Given the description of an element on the screen output the (x, y) to click on. 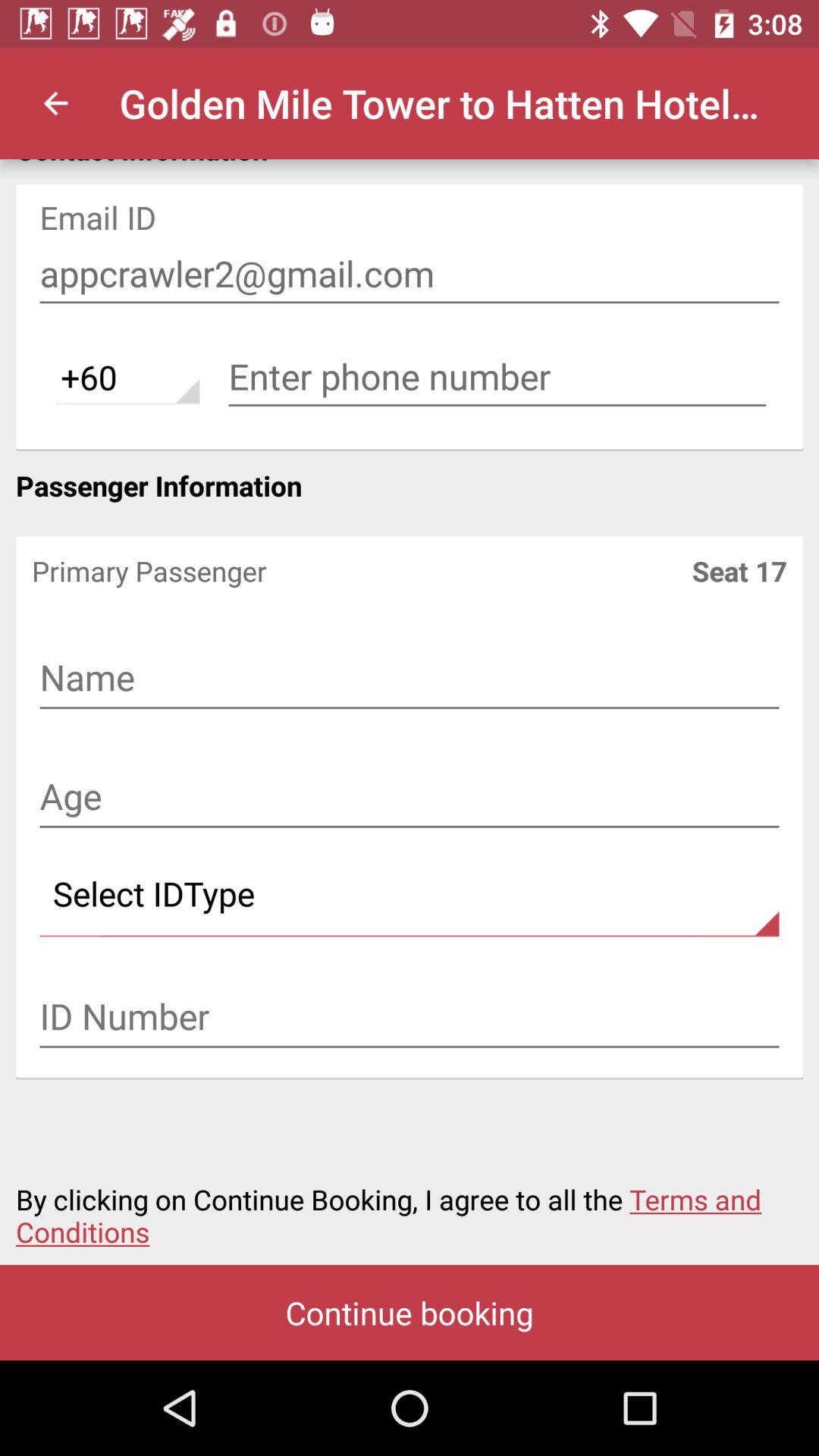
click the item above continue booking icon (409, 1206)
